Given the description of an element on the screen output the (x, y) to click on. 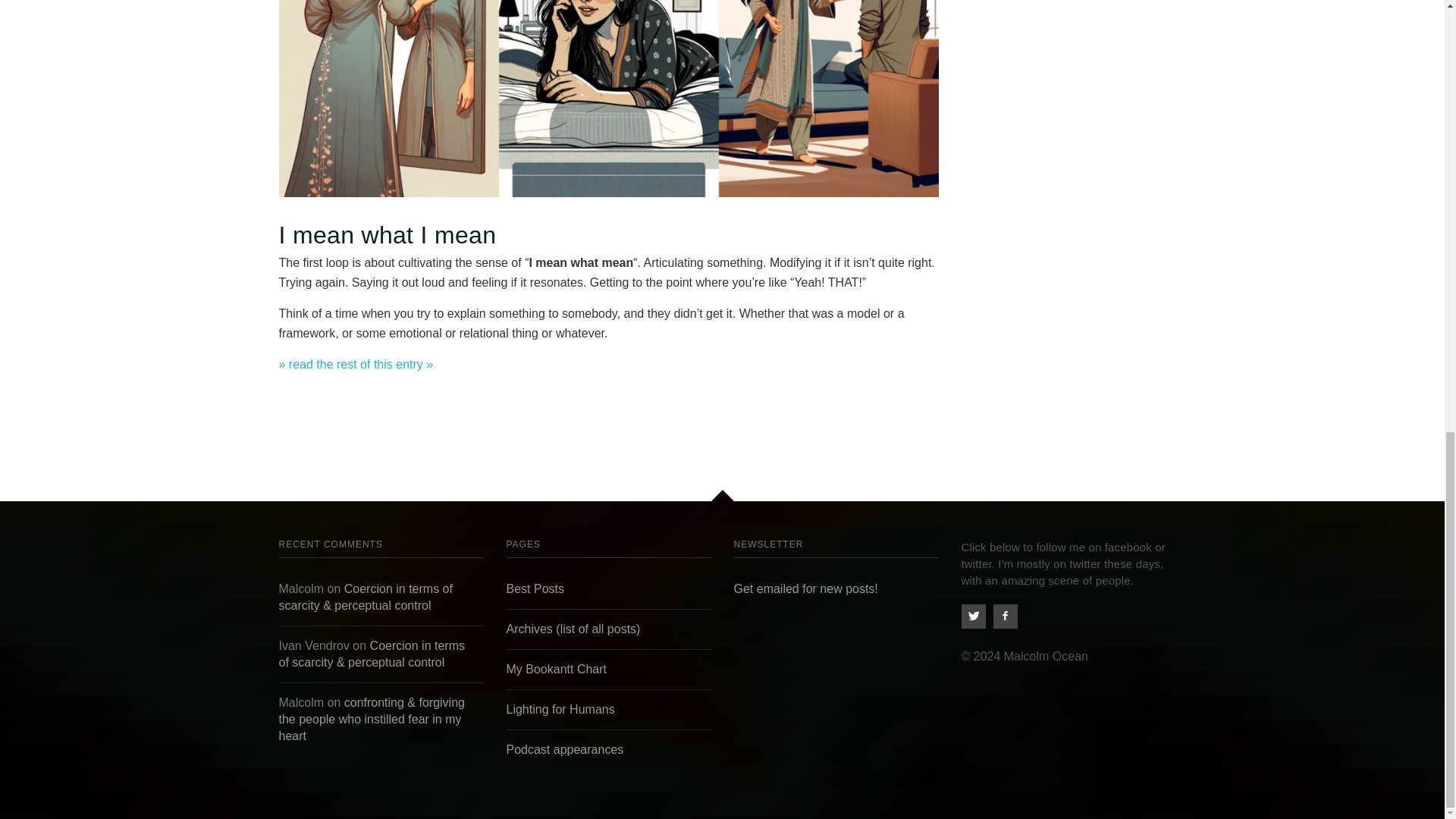
Get emailed for new posts! (805, 588)
My Bookantt Chart (556, 668)
Lighting for Humans (560, 708)
Podcast appearances (565, 748)
Best Posts (535, 588)
